Given the description of an element on the screen output the (x, y) to click on. 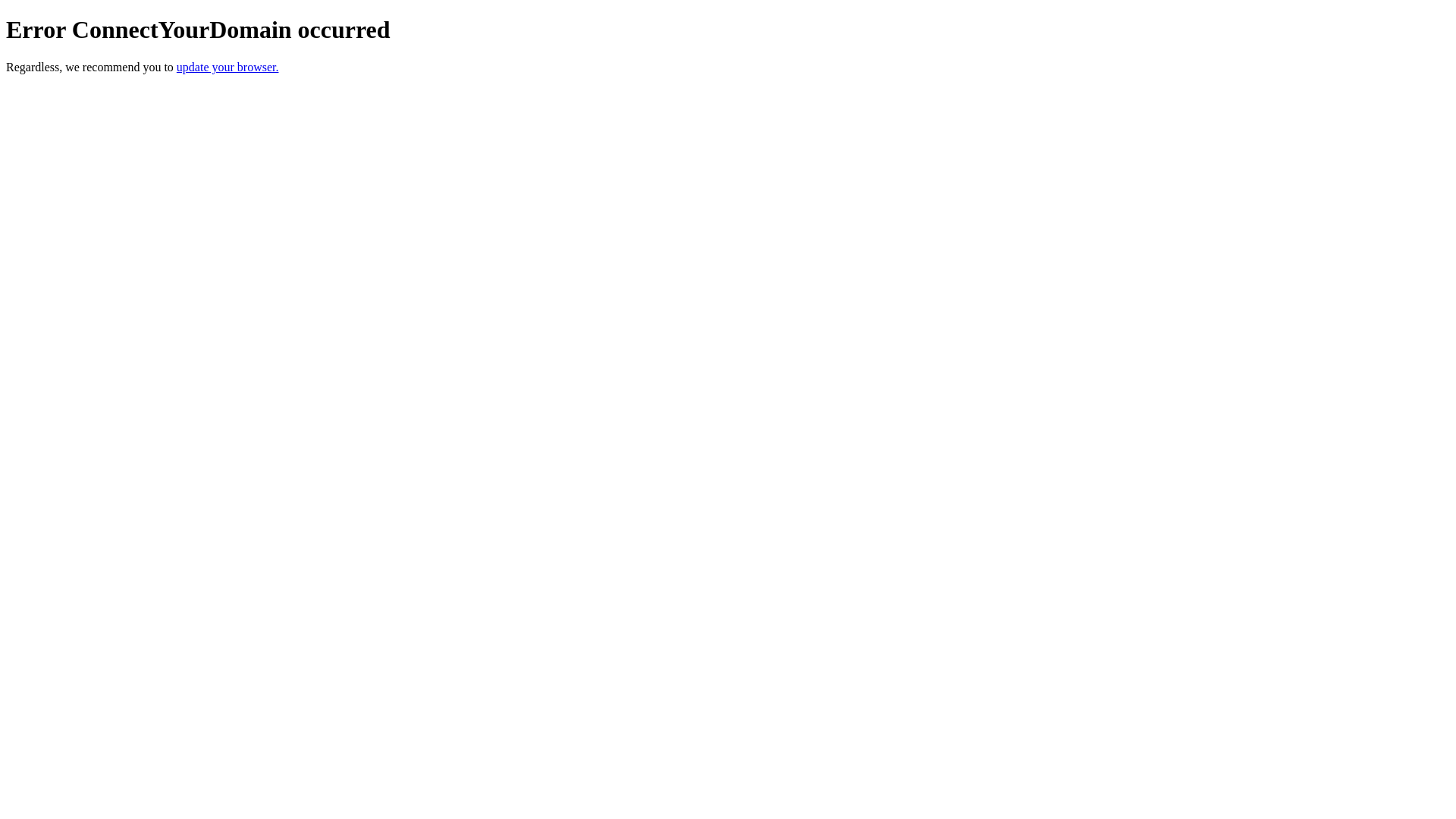
update your browser. Element type: text (227, 66)
